Given the description of an element on the screen output the (x, y) to click on. 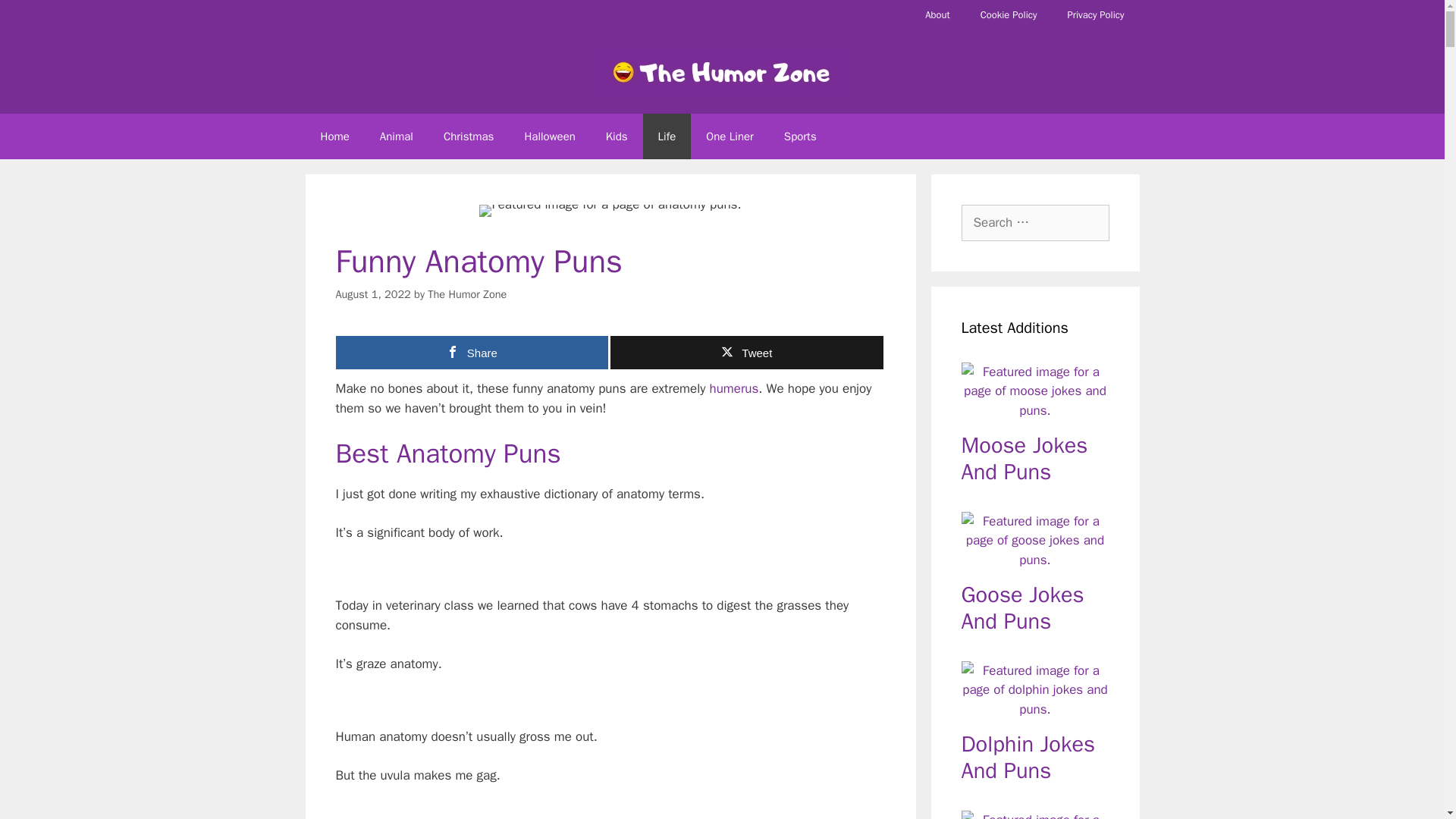
Christmas (468, 135)
Sports (799, 135)
Animal (396, 135)
One Liner (729, 135)
Share (471, 352)
Kids (617, 135)
Home (334, 135)
About (936, 15)
humerus (733, 388)
Halloween (548, 135)
View all posts by The Humor Zone (467, 294)
Tweet (746, 352)
Life (667, 135)
The Humor Zone (467, 294)
Cookie Policy (1008, 15)
